Given the description of an element on the screen output the (x, y) to click on. 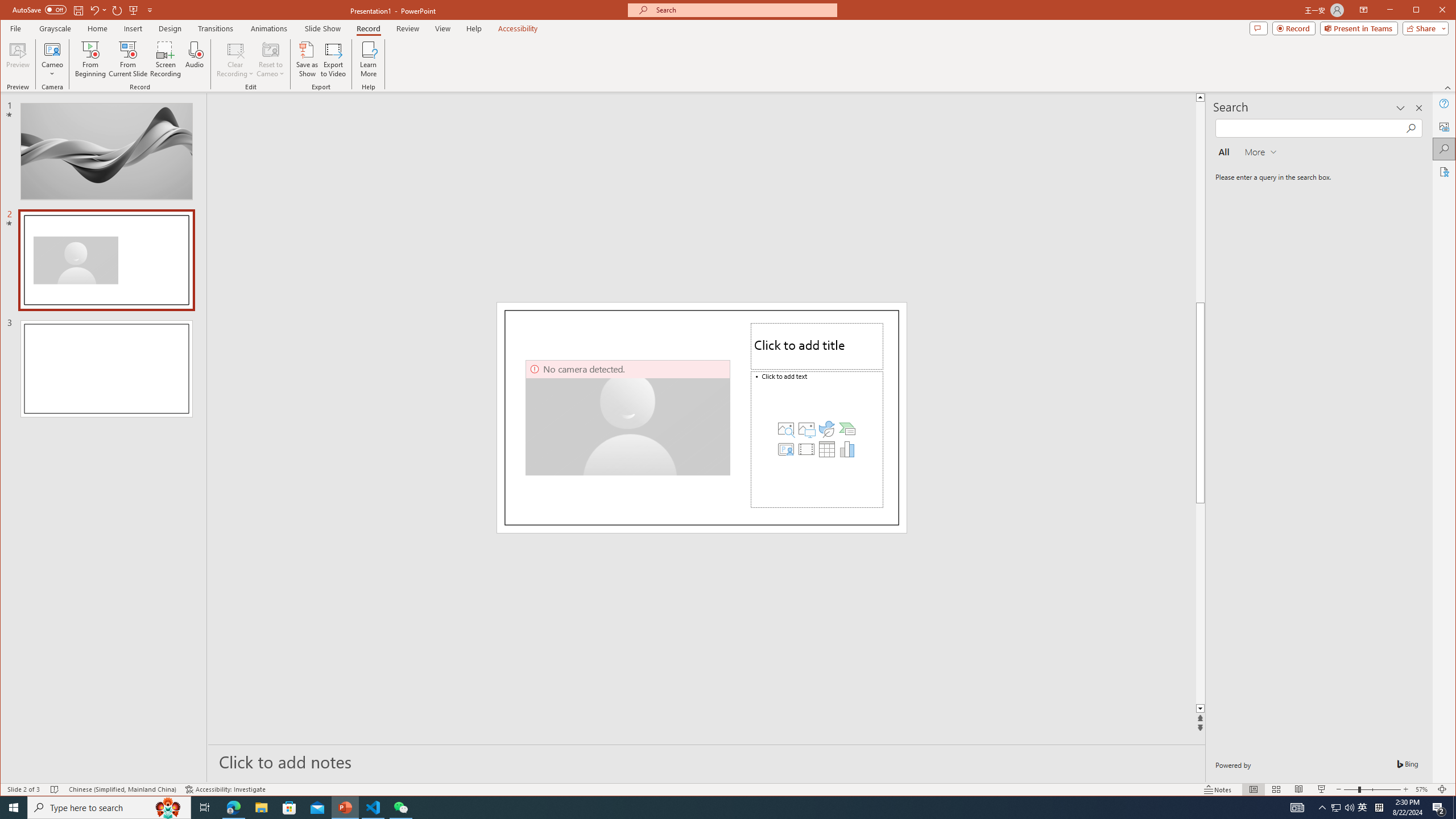
WeChat - 1 running window (400, 807)
Insert a SmartArt Graphic (847, 428)
